Given the description of an element on the screen output the (x, y) to click on. 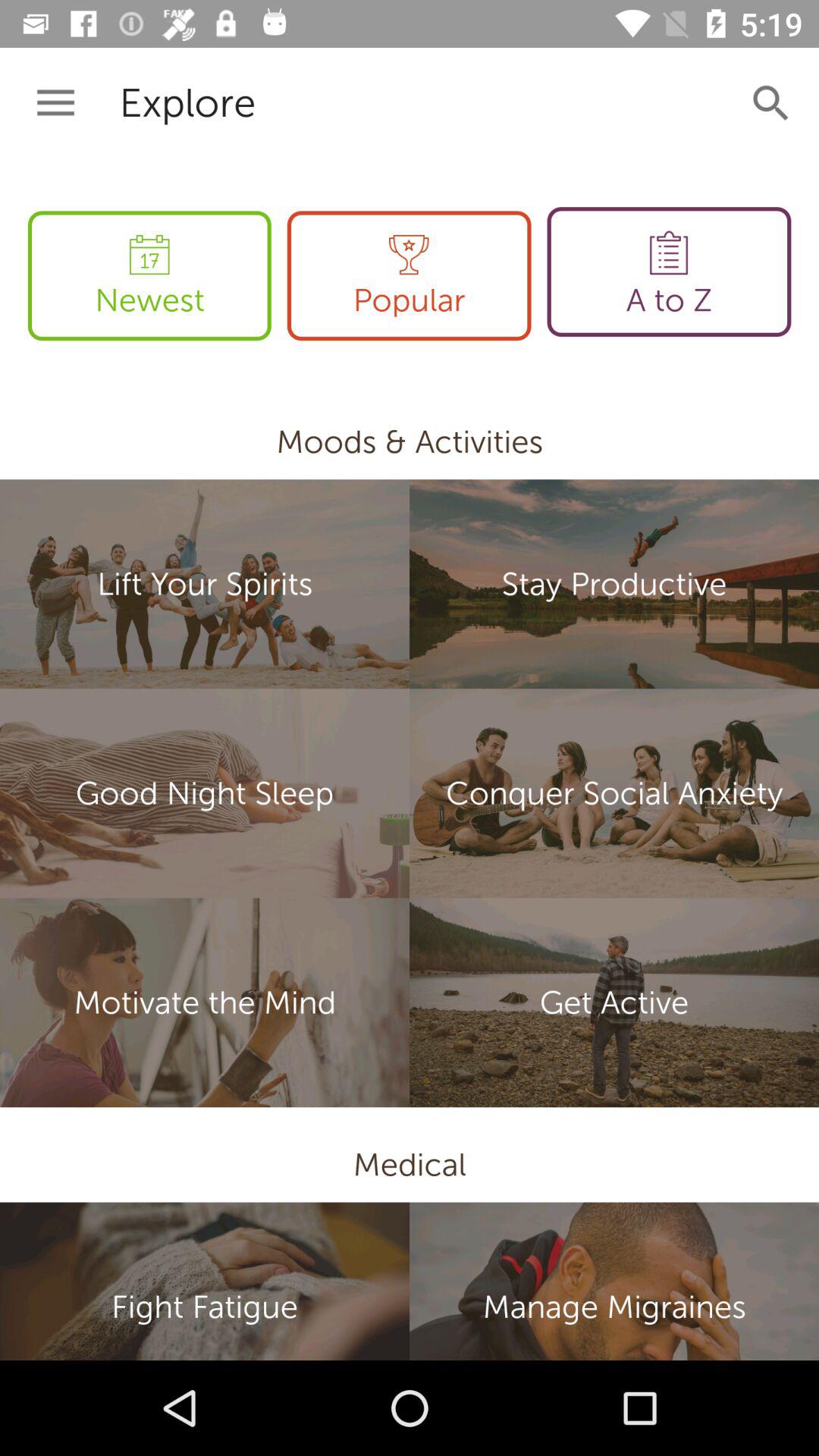
launch the icon above newest item (55, 103)
